Given the description of an element on the screen output the (x, y) to click on. 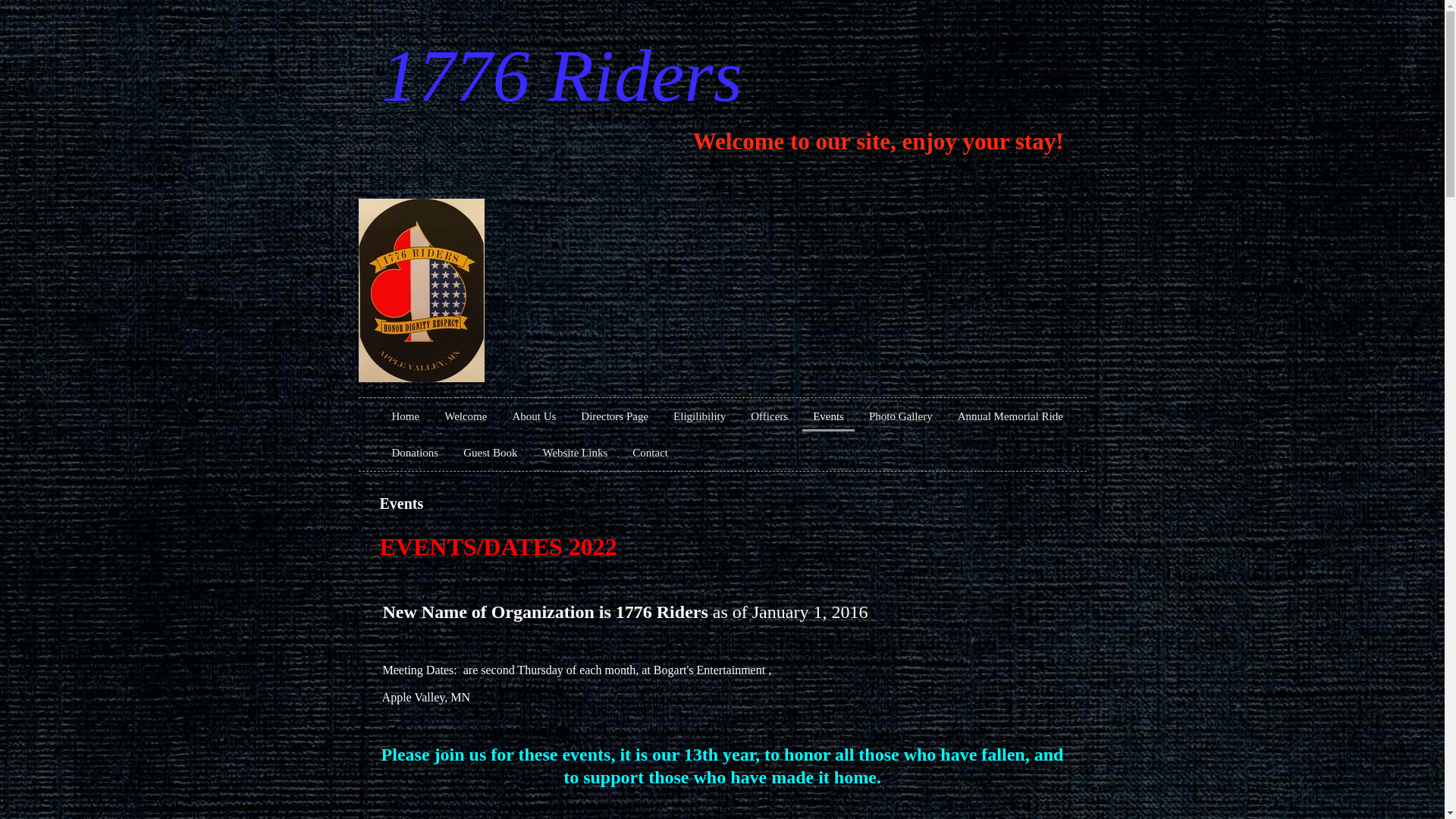
Website Links Element type: text (574, 452)
Guest Book Element type: text (489, 452)
1776 Riders Element type: text (560, 75)
Eligilibility Element type: text (699, 416)
Home Element type: text (404, 416)
Annual Memorial Ride Element type: text (1010, 416)
Contact Element type: text (649, 452)
About Us Element type: text (533, 416)
Officers Element type: text (769, 416)
Directors Page Element type: text (614, 416)
Photo Gallery Element type: text (900, 416)
Events Element type: text (828, 417)
Welcome Element type: text (465, 416)
Donations Element type: text (414, 452)
